Given the description of an element on the screen output the (x, y) to click on. 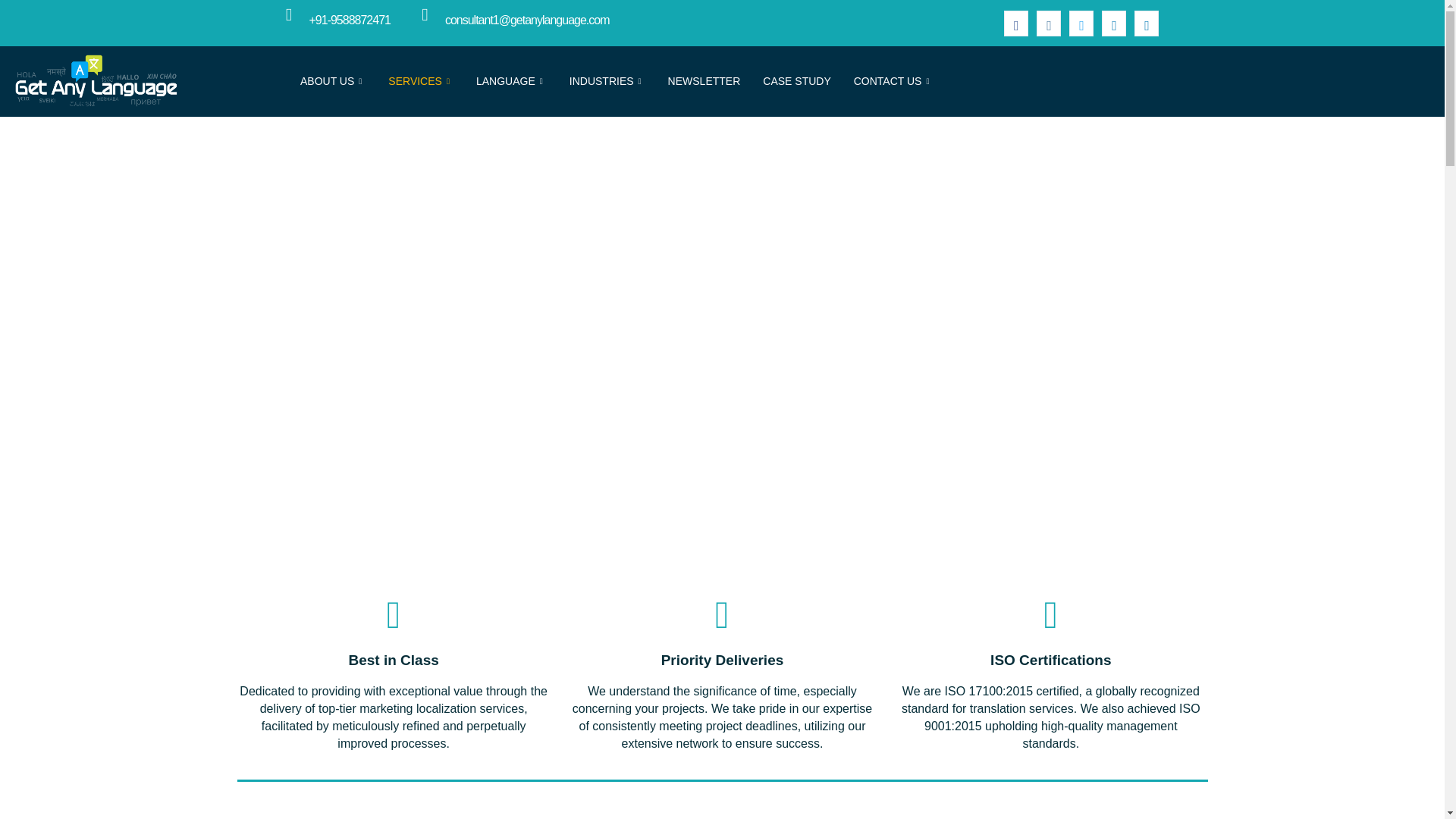
ABOUT US (332, 80)
SERVICES (420, 80)
